Given the description of an element on the screen output the (x, y) to click on. 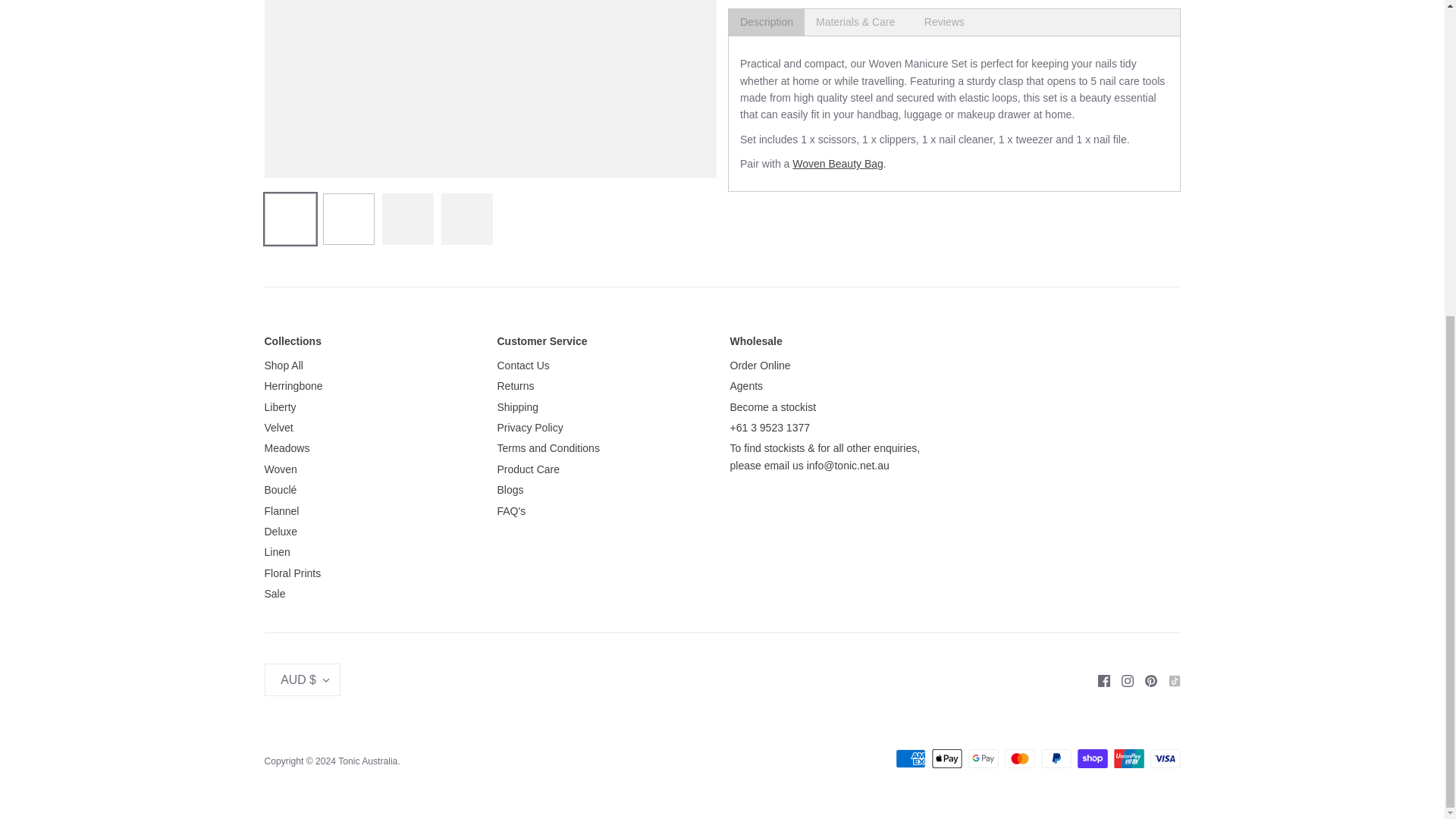
Google Pay (983, 758)
Mastercard (1019, 758)
Apple Pay (946, 758)
Union Pay (1128, 758)
PayPal (1056, 758)
Visa (1164, 758)
Small Beauty Bag Woven Peony (837, 163)
American Express (910, 758)
Shop Pay (1092, 758)
